Given the description of an element on the screen output the (x, y) to click on. 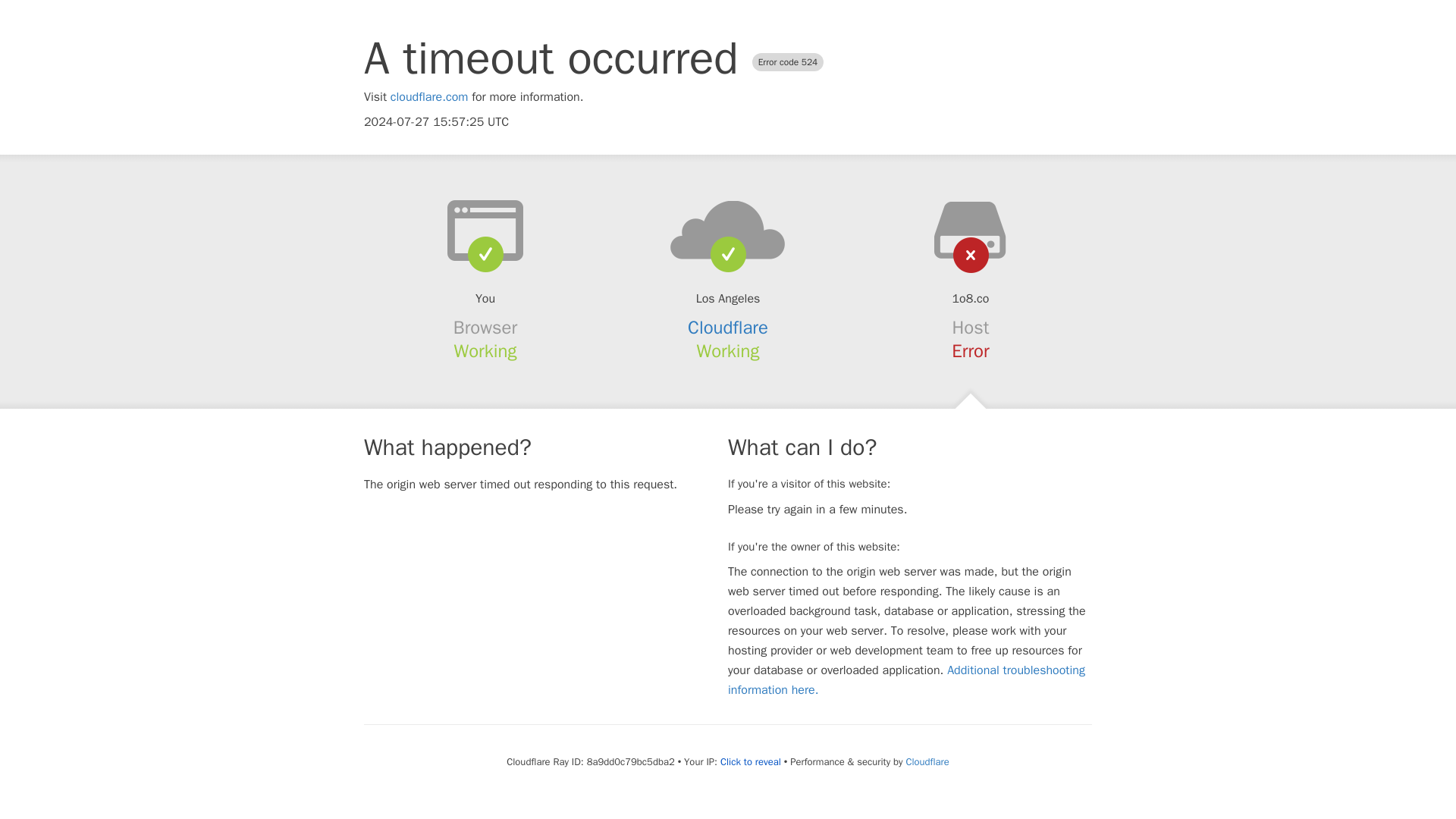
cloudflare.com (429, 96)
Additional troubleshooting information here. (906, 679)
Cloudflare (727, 327)
Click to reveal (750, 762)
Cloudflare (927, 761)
